Given the description of an element on the screen output the (x, y) to click on. 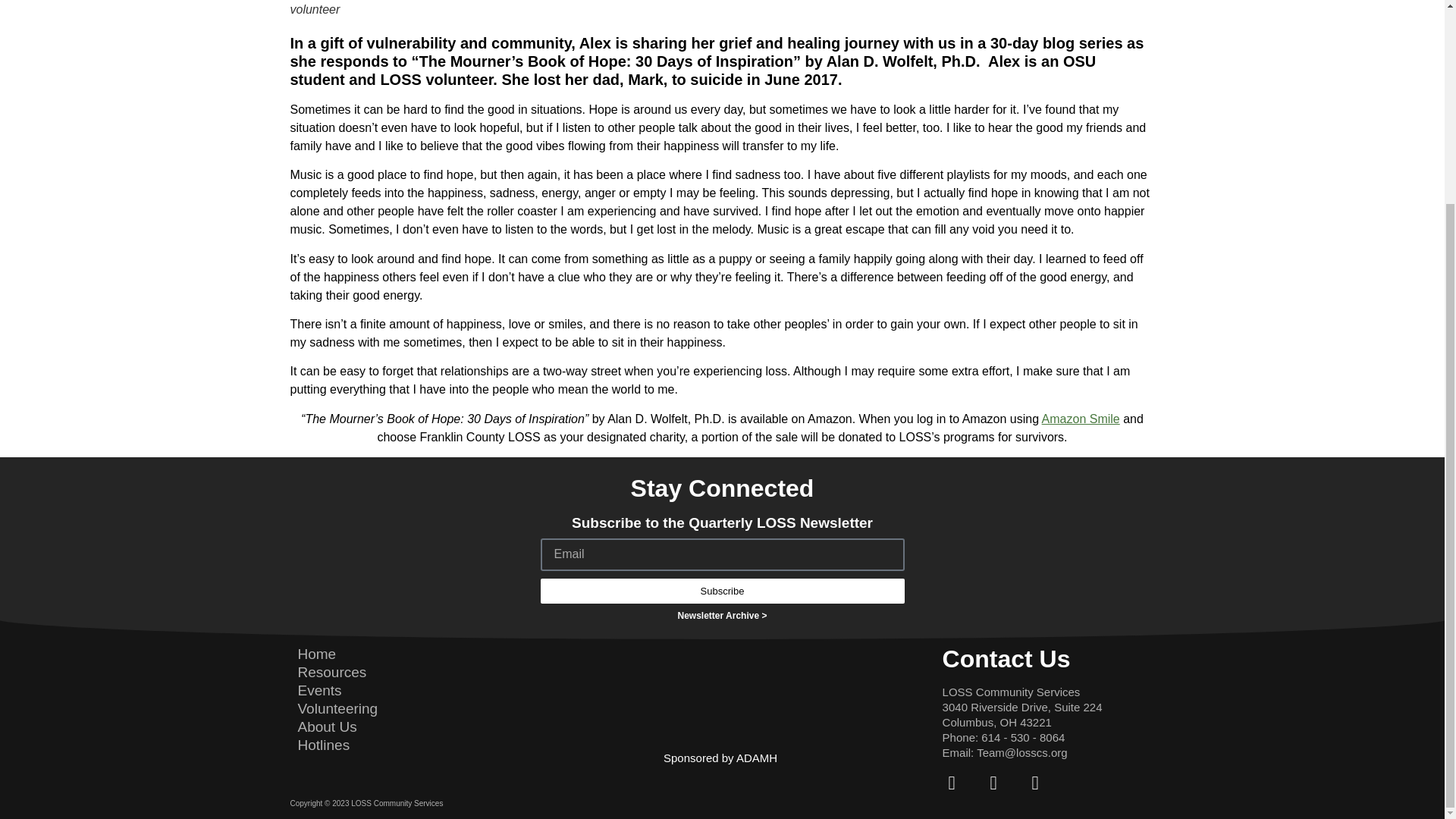
Resources (331, 672)
Subscribe (722, 590)
Hotlines (323, 744)
Home (316, 653)
Volunteering (337, 708)
Amazon Smile (1080, 418)
About Us (326, 726)
Events (318, 690)
